Given the description of an element on the screen output the (x, y) to click on. 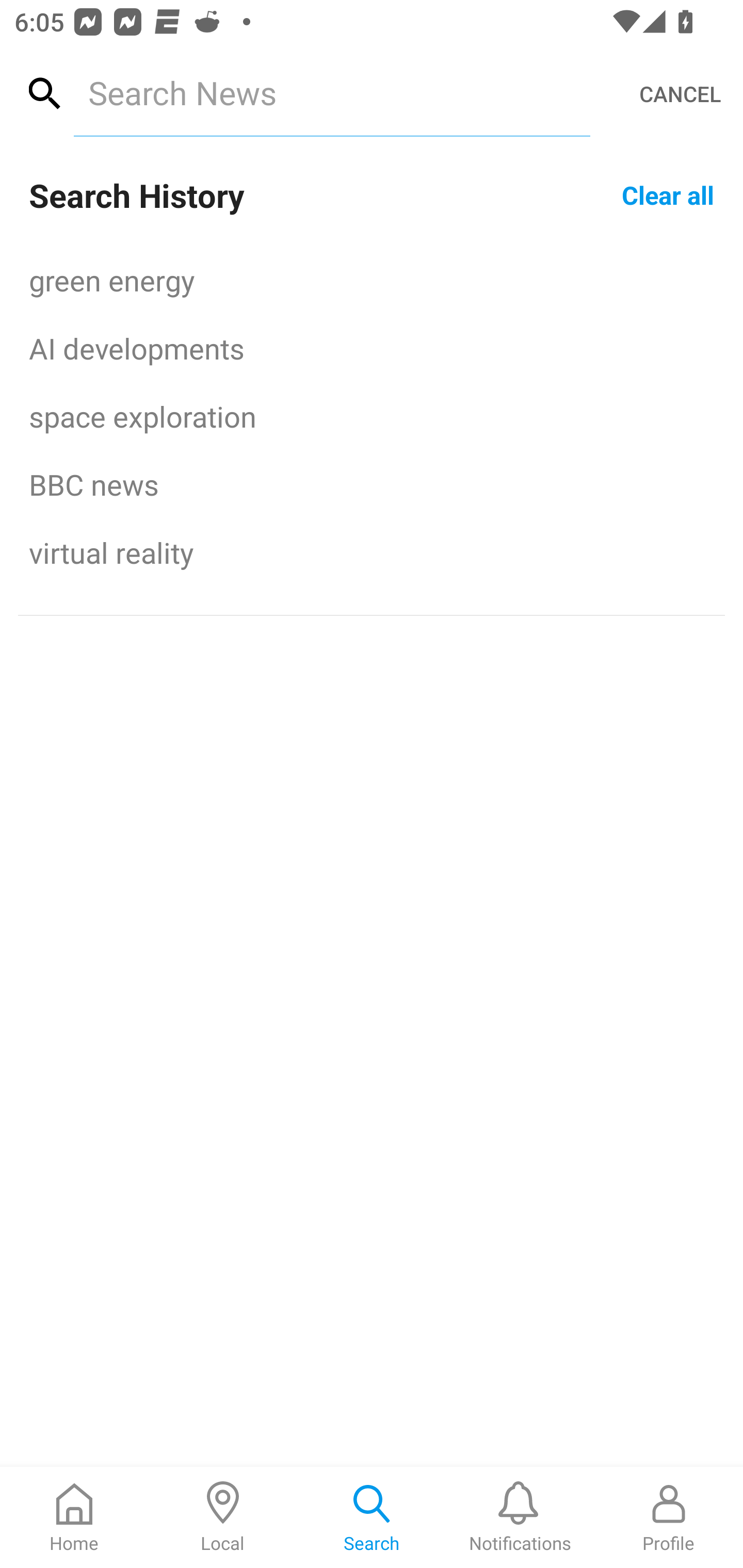
CANCEL (680, 93)
Search News (331, 92)
Clear all (667, 194)
green energy (371, 279)
AI developments (371, 347)
space exploration (371, 416)
BBC news (371, 484)
virtual reality (371, 552)
Home (74, 1517)
Local (222, 1517)
Notifications (519, 1517)
Profile (668, 1517)
